Given the description of an element on the screen output the (x, y) to click on. 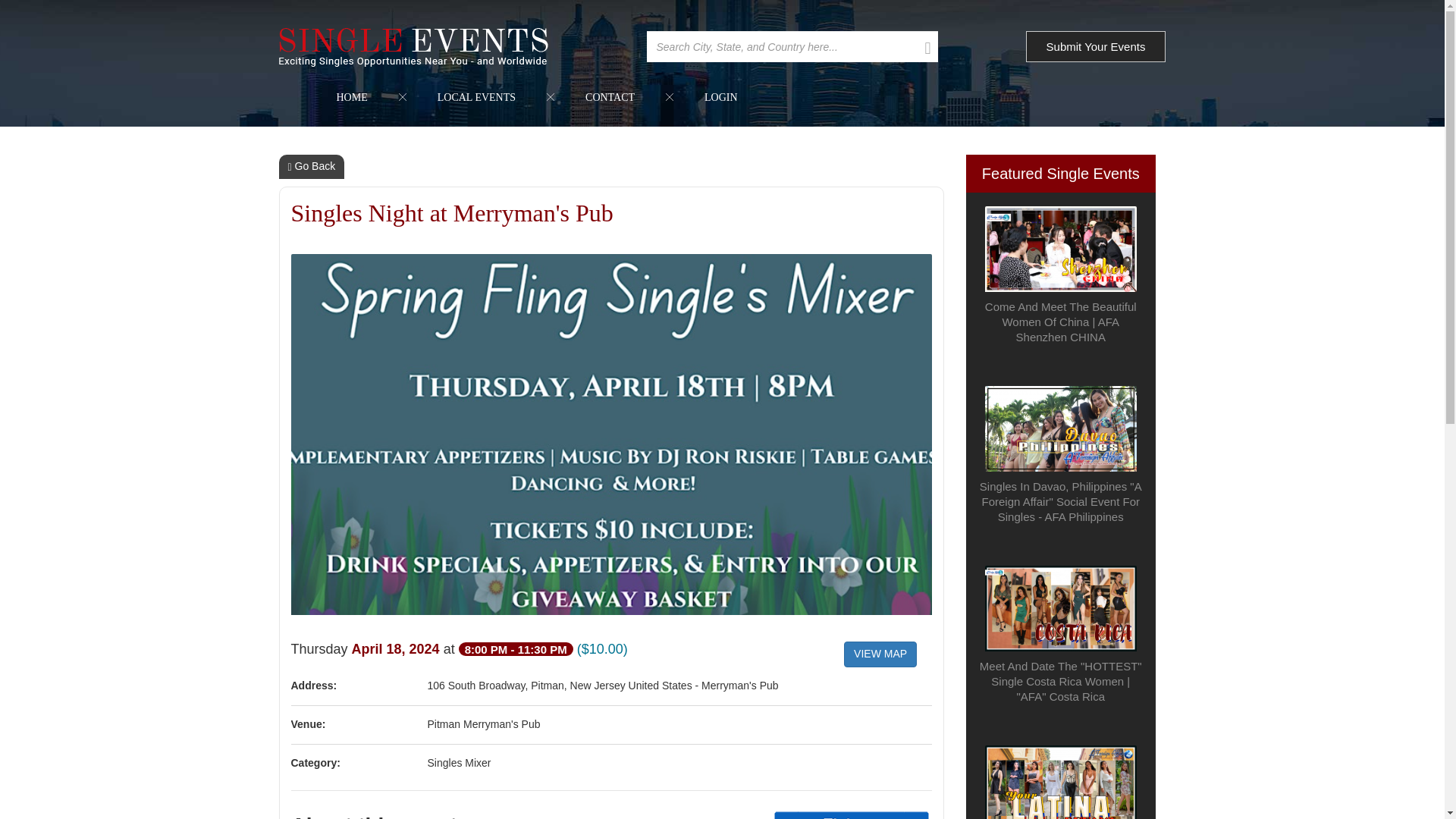
April 18, 2024 (398, 648)
LOGIN (721, 97)
CONTACT (609, 97)
Go Back (312, 166)
HOME (351, 97)
LOCAL EVENTS (476, 97)
Submit Your Events (1096, 46)
VIEW MAP (880, 654)
